Given the description of an element on the screen output the (x, y) to click on. 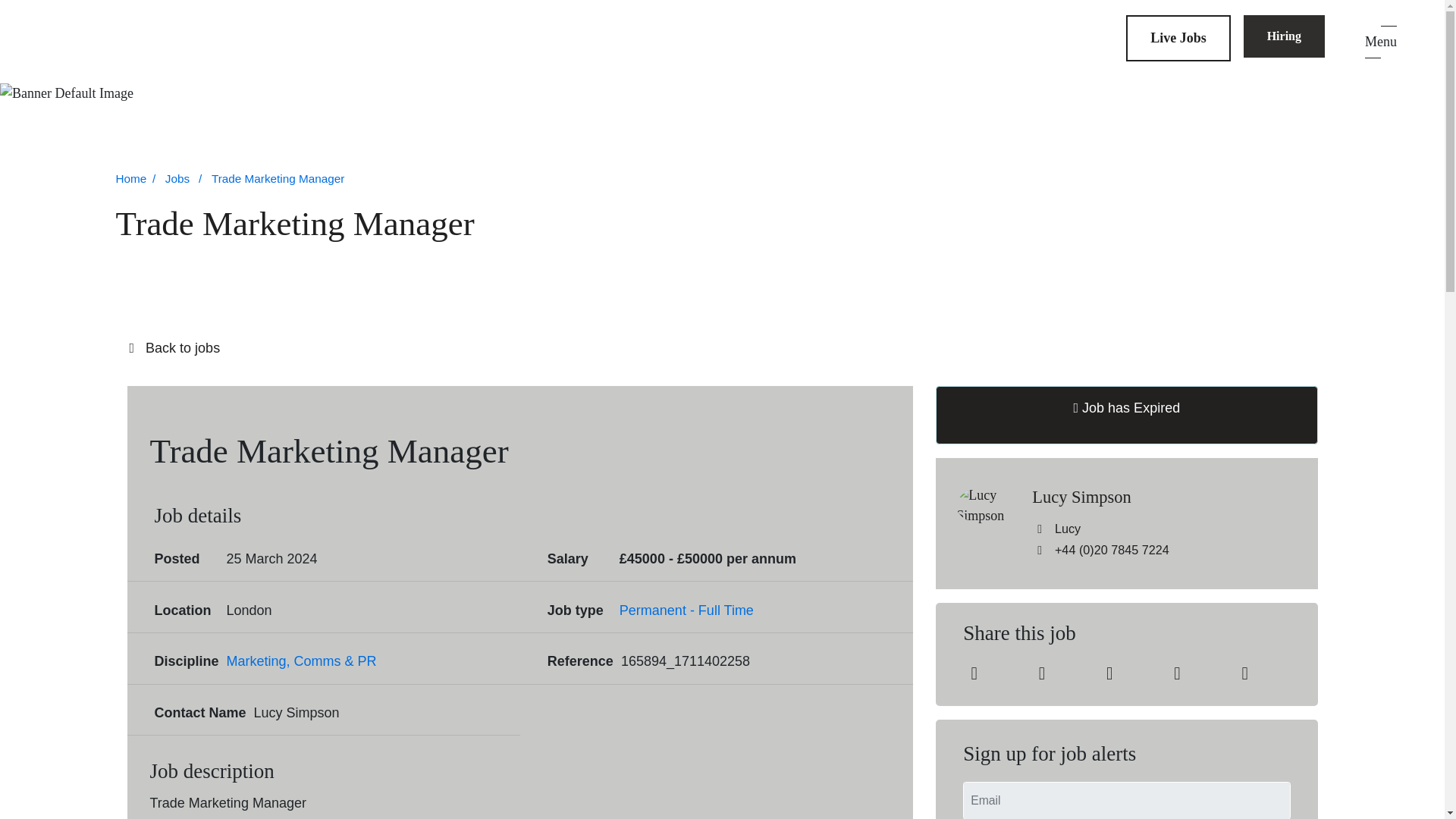
Menu (1380, 41)
Live Jobs (1177, 38)
Lucy Simpson (1164, 497)
Lucy (1056, 528)
Back to jobs (721, 348)
Permanent - Full Time (687, 610)
Hiring (1283, 36)
Go to the Homepage (131, 42)
Home (137, 178)
Trade Marketing Manager (277, 178)
